Given the description of an element on the screen output the (x, y) to click on. 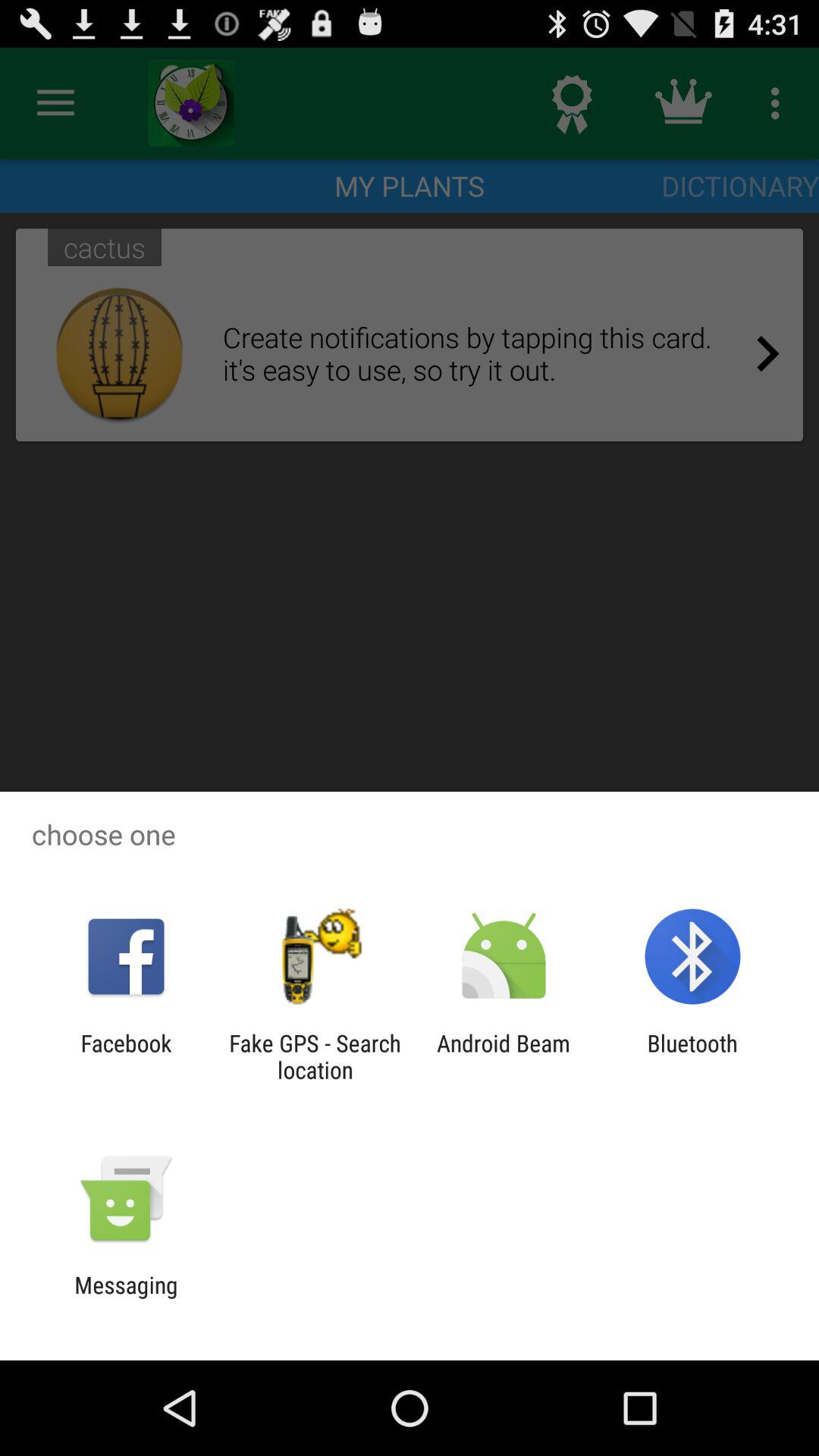
launch item at the bottom right corner (692, 1056)
